Given the description of an element on the screen output the (x, y) to click on. 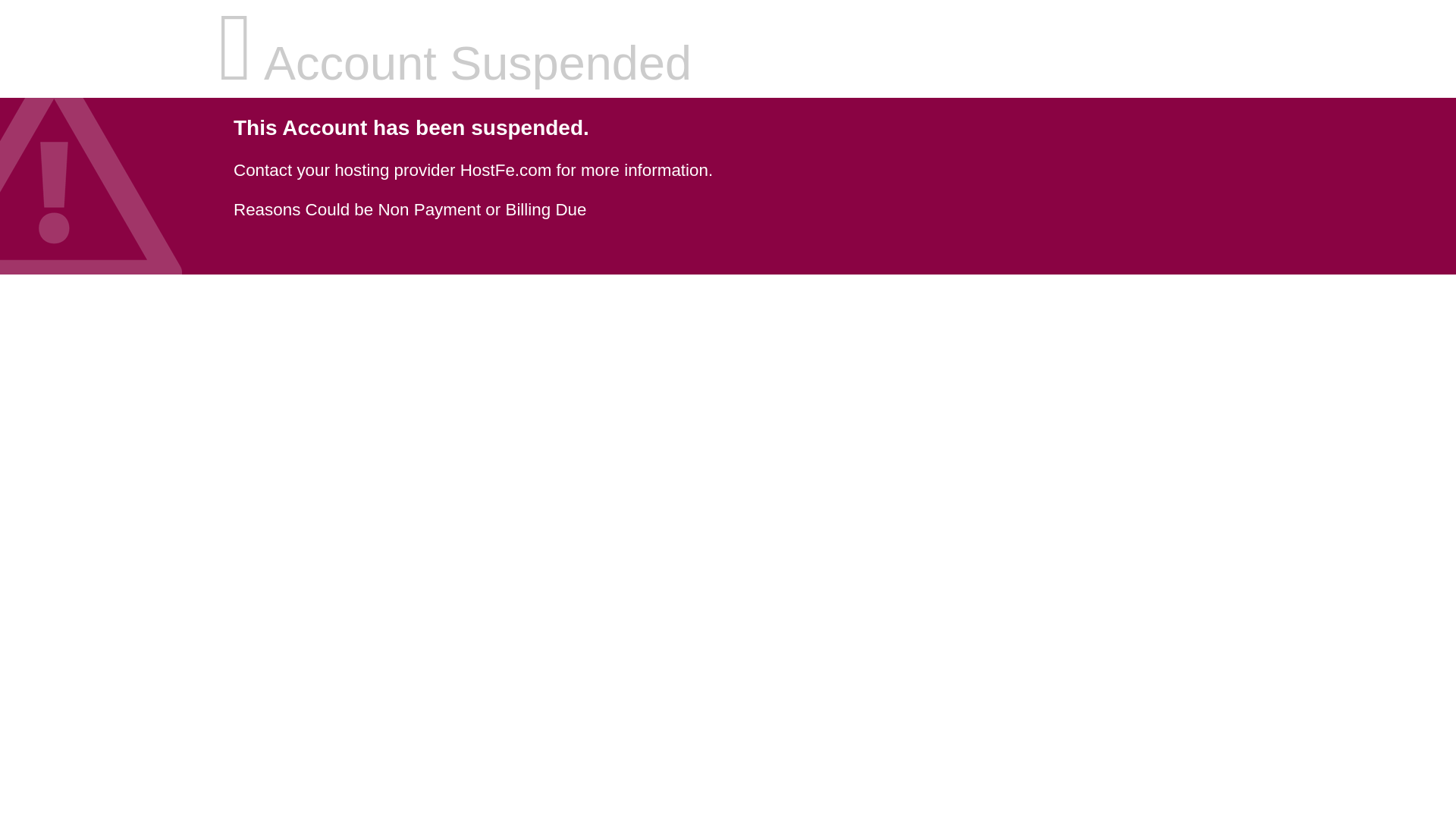
Reasons Could be Non Payment or Billing Due (409, 209)
Contact your hosting provider HostFe.com (391, 169)
